Given the description of an element on the screen output the (x, y) to click on. 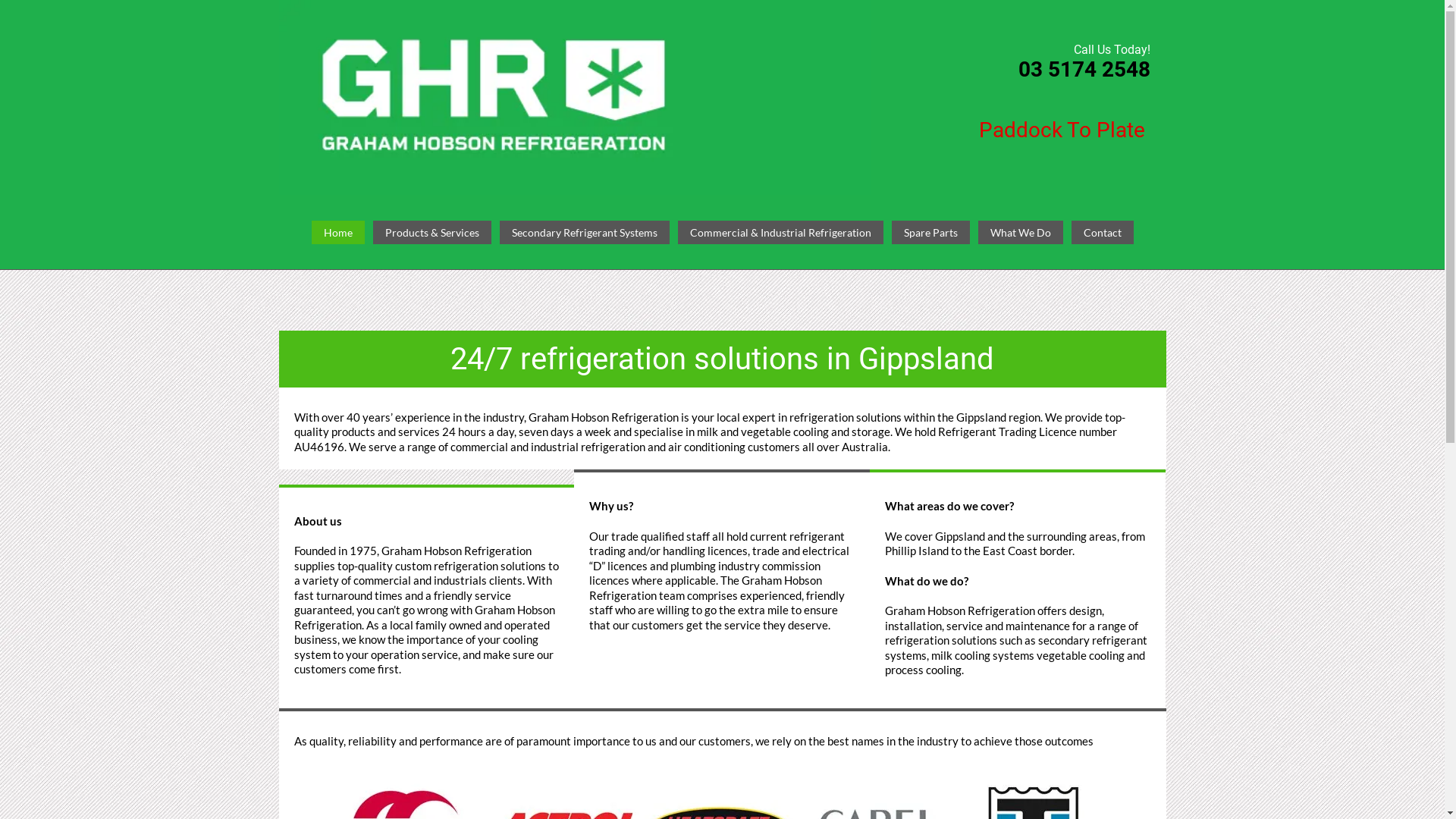
Products & Services Element type: text (432, 232)
Commercial & Industrial Refrigeration Element type: text (780, 232)
03 5174 2548 Element type: text (1084, 68)
Secondary Refrigerant Systems Element type: text (583, 232)
Contact Element type: text (1101, 232)
Spare Parts Element type: text (930, 232)
What We Do Element type: text (1020, 232)
graham hobson refrigeration air conditioning Element type: hover (574, 97)
Home Element type: text (337, 232)
